Given the description of an element on the screen output the (x, y) to click on. 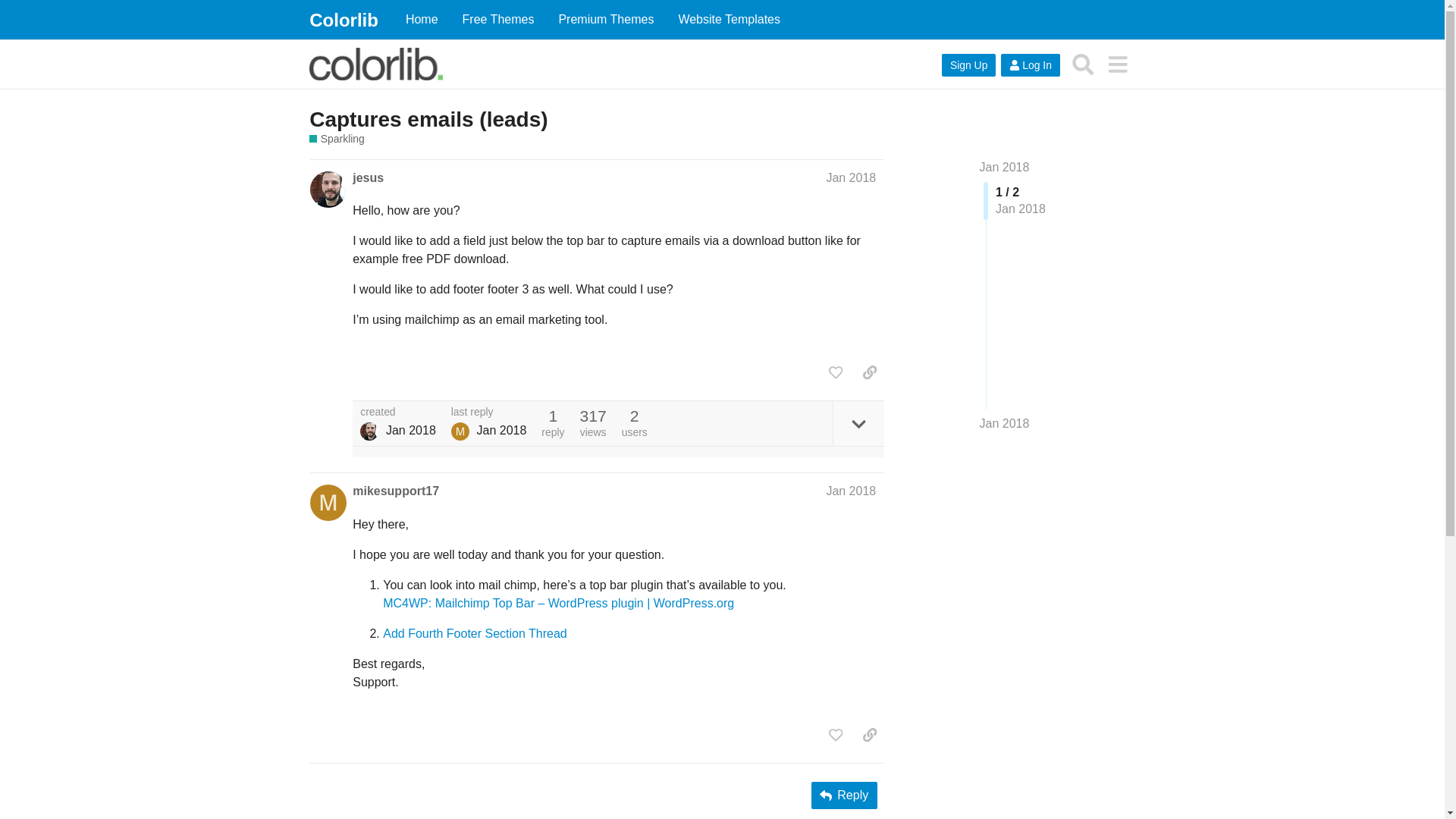
Website Templates (728, 19)
Jan 31, 2018 12:53 am (410, 431)
Post date (850, 490)
Jan 2018 (1004, 423)
Mike (459, 431)
Sparkling (336, 138)
Post date (850, 177)
Colorlib (343, 20)
Jump to the last post (1004, 422)
Jan 2018 (850, 177)
jesus (368, 177)
jesus (368, 431)
expand topic details (857, 423)
Sign Up (968, 65)
menu (1117, 63)
